Given the description of an element on the screen output the (x, y) to click on. 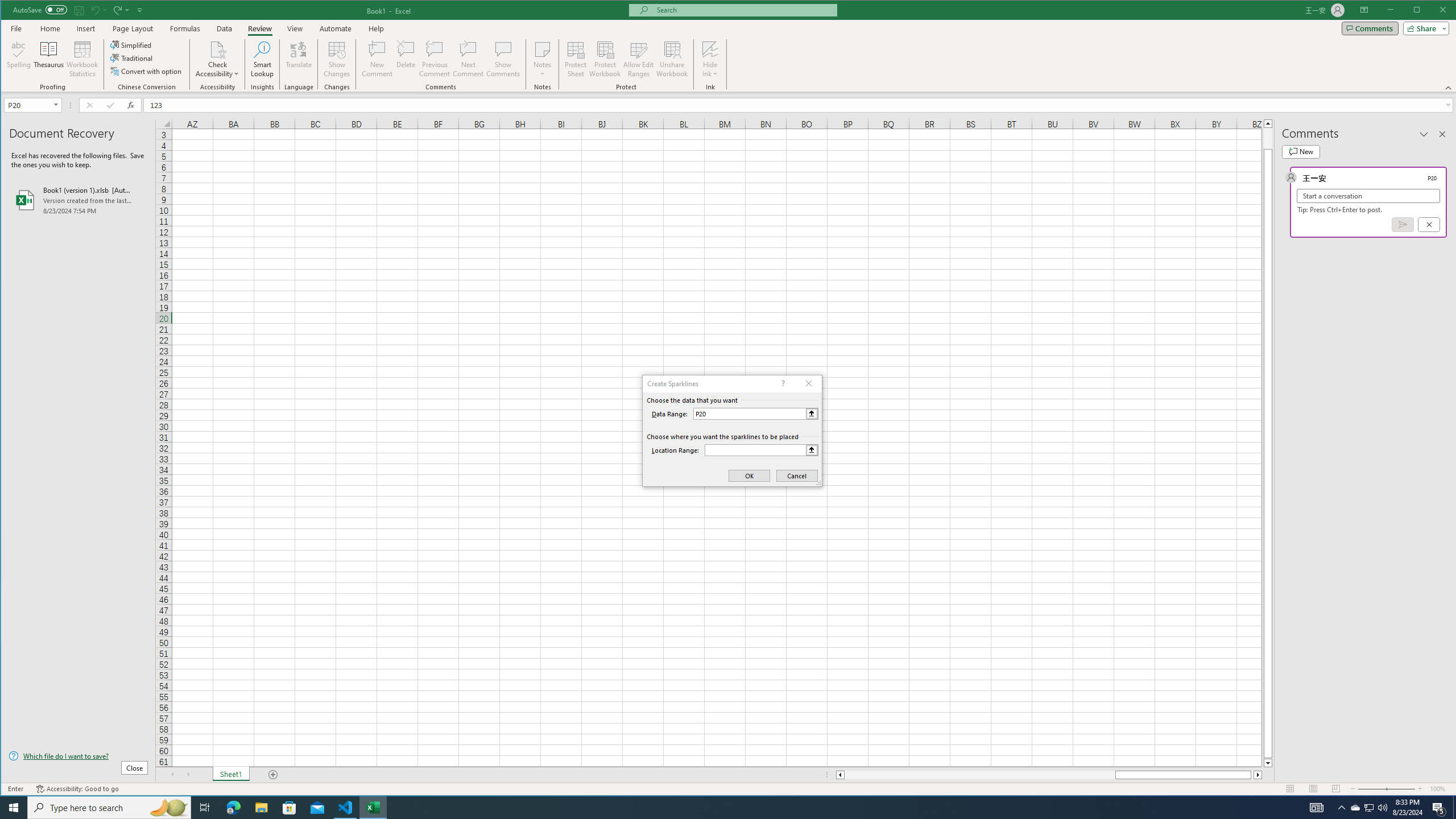
Smart Lookup (261, 59)
Show Comments (502, 59)
Workbook Statistics (82, 59)
